Given the description of an element on the screen output the (x, y) to click on. 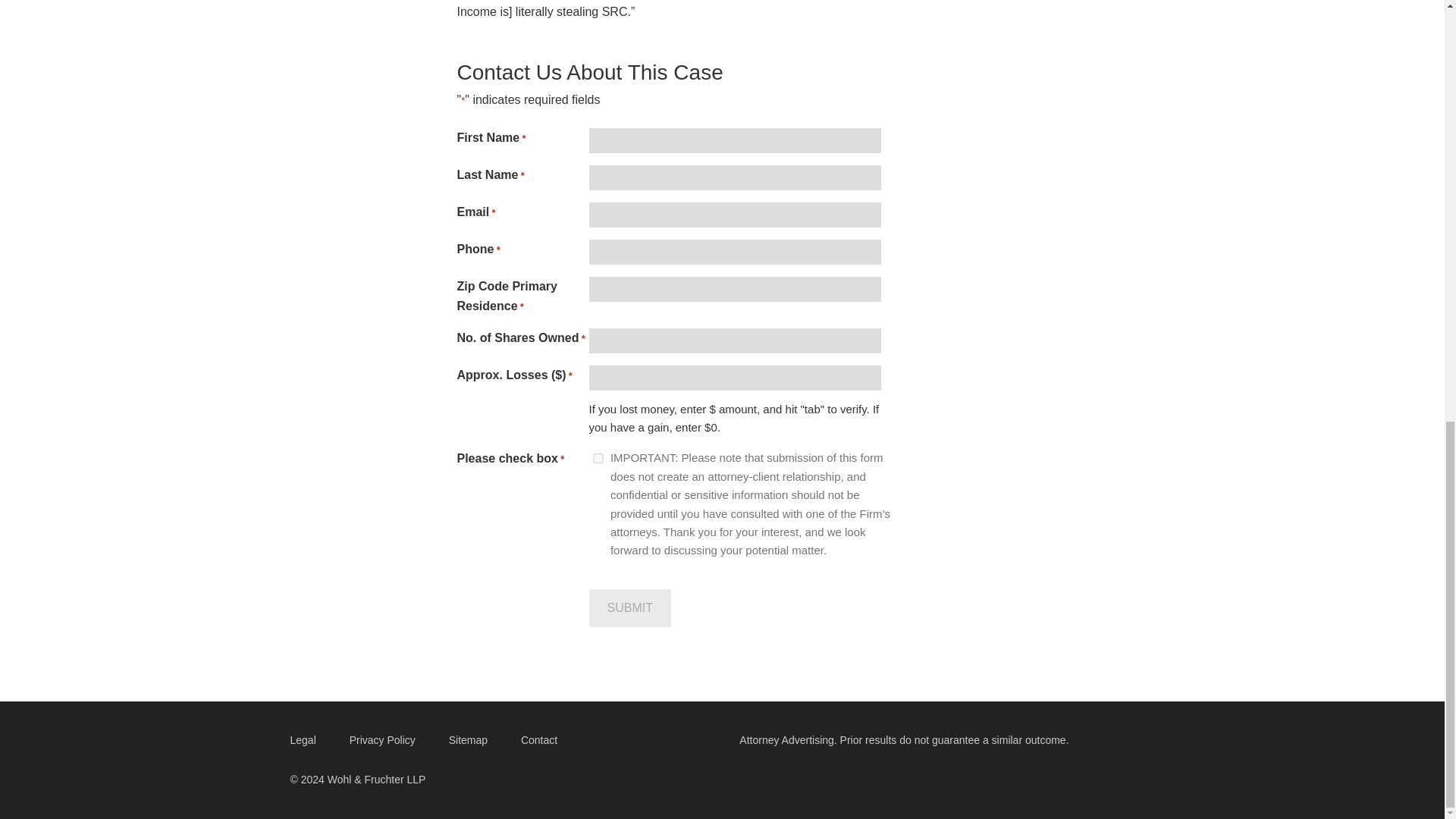
Submit (628, 607)
Submit (628, 607)
Legal (302, 740)
Contact (538, 740)
Privacy Policy (382, 740)
Sitemap (467, 740)
